Given the description of an element on the screen output the (x, y) to click on. 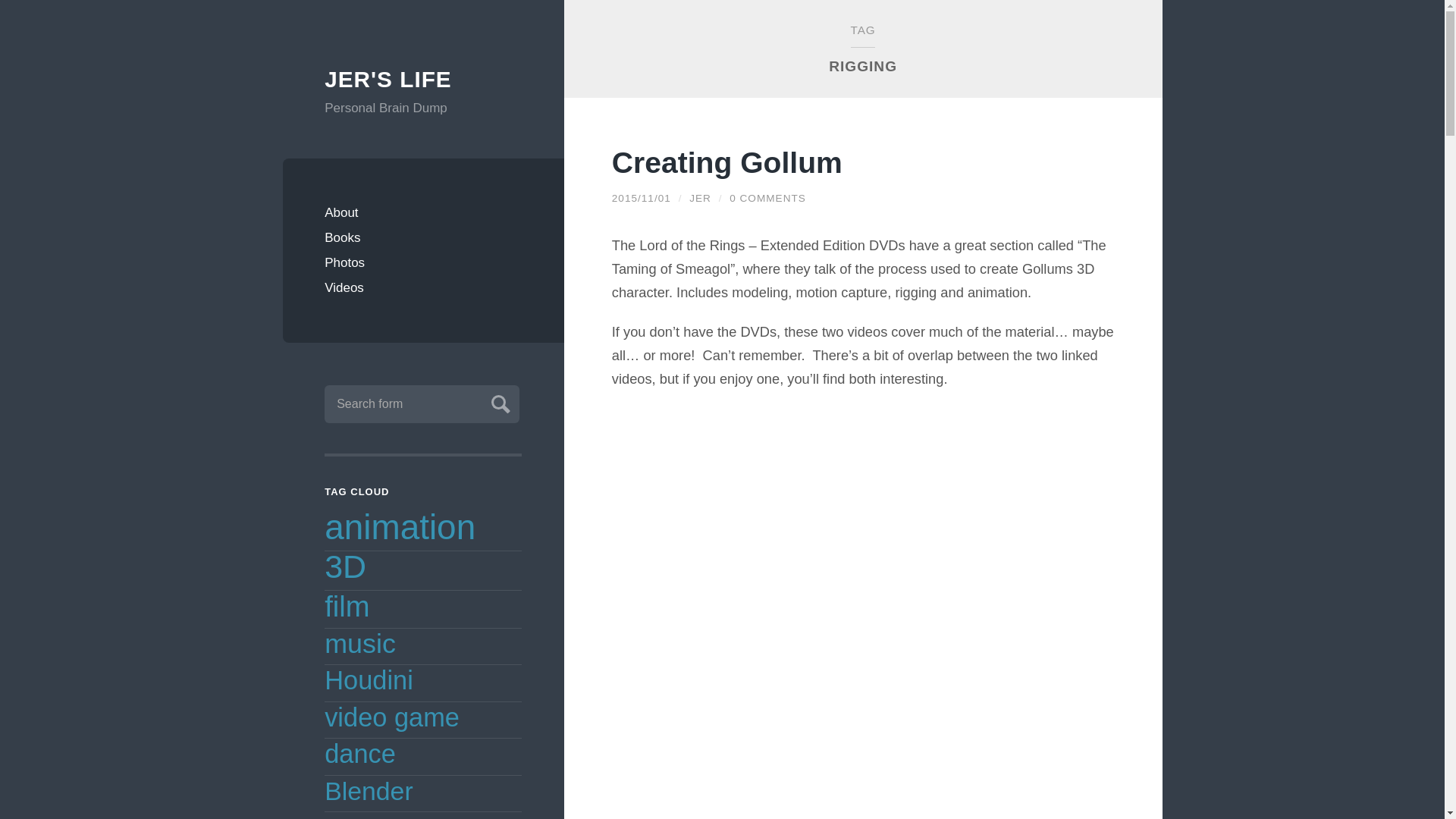
Submit (498, 401)
film (346, 605)
Videos (422, 287)
Photos (422, 262)
Houdini (368, 679)
music (360, 643)
Books (422, 237)
Posts by Jer (699, 197)
2D (340, 816)
JER'S LIFE (422, 79)
